Given the description of an element on the screen output the (x, y) to click on. 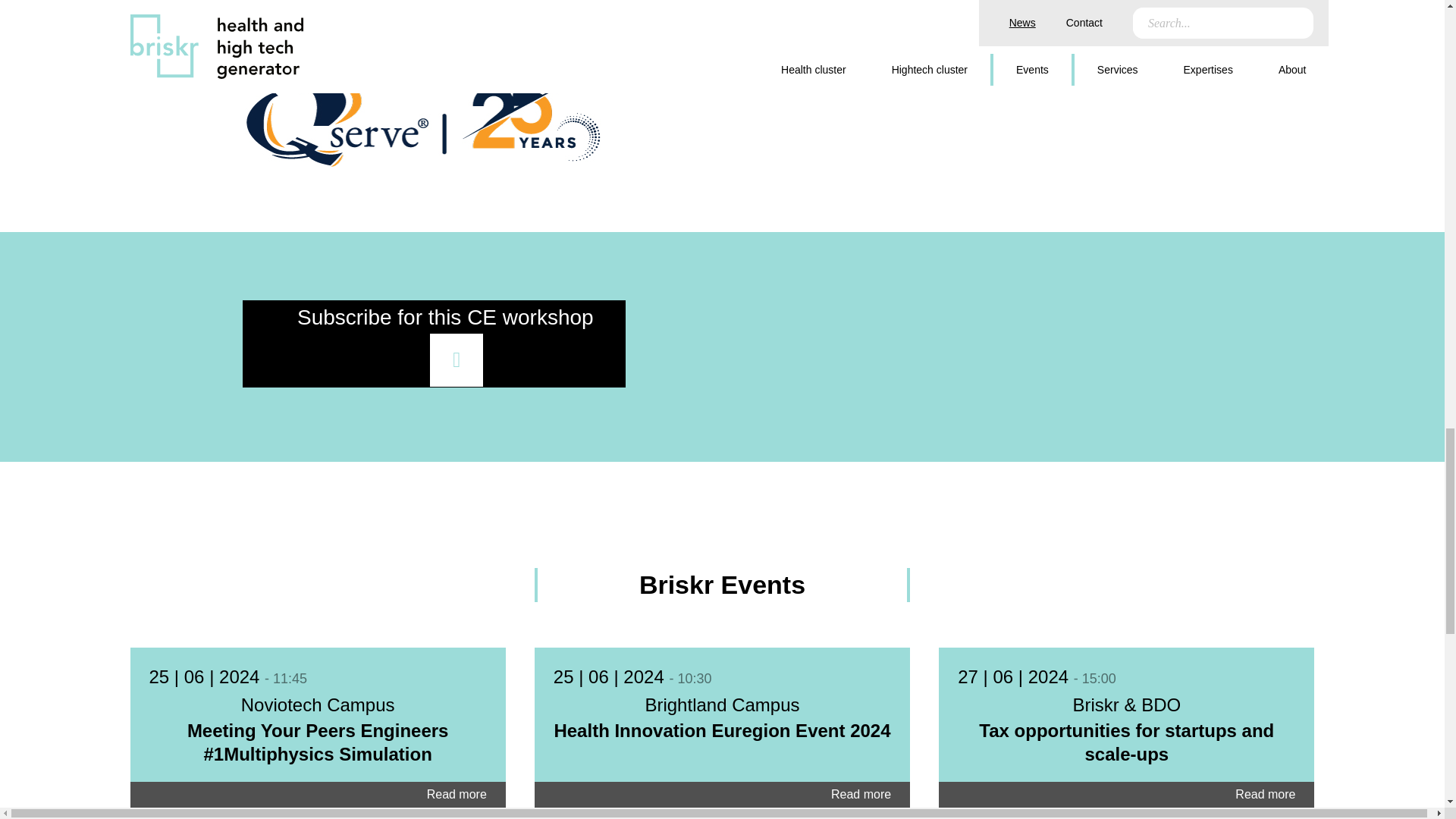
Subscribe for this CE workshop (434, 344)
